Given the description of an element on the screen output the (x, y) to click on. 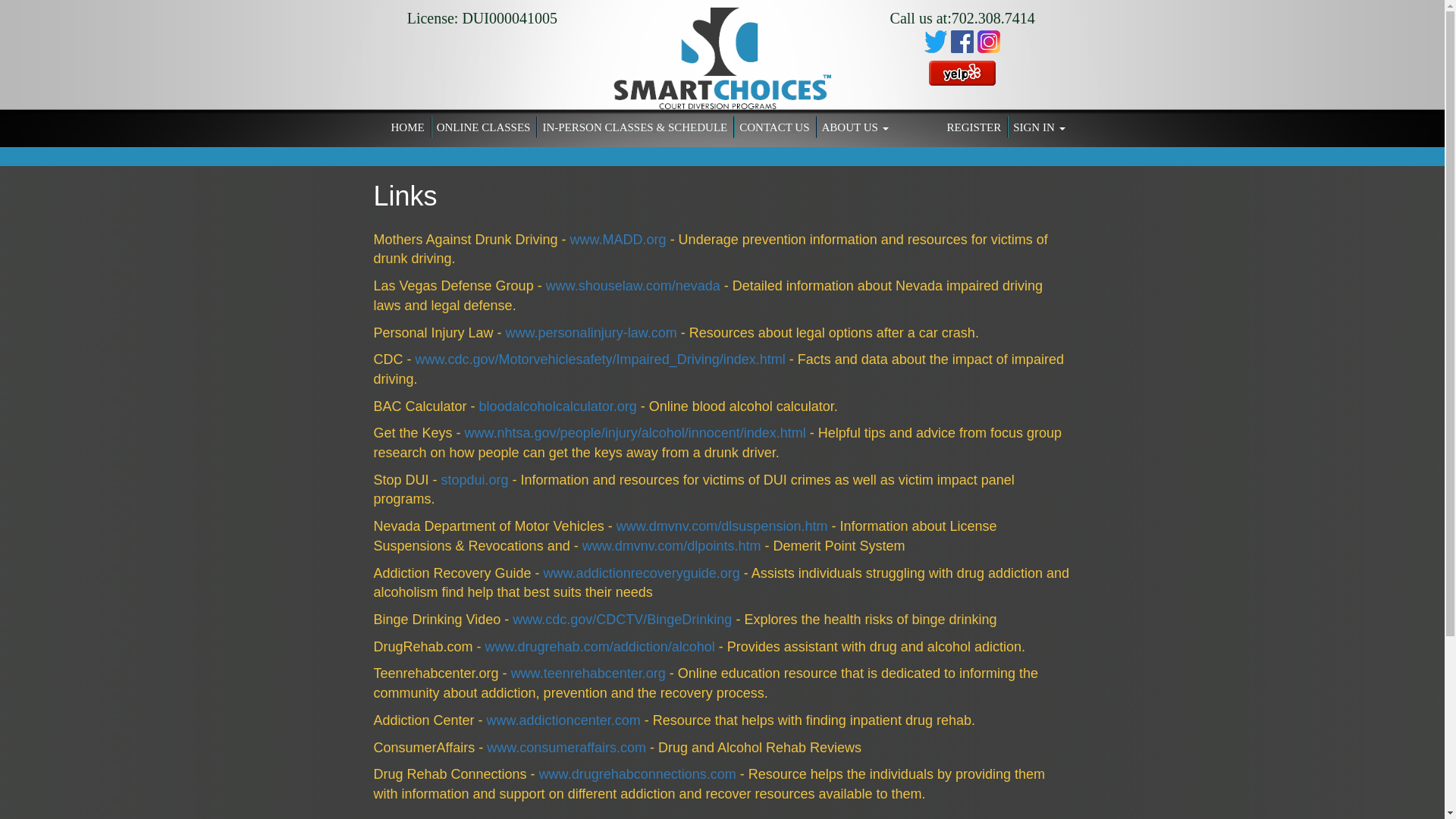
www.consumeraffairs.com (566, 747)
HOME (408, 127)
ABOUT US (855, 127)
www.drugrehabconnections.com (637, 774)
SIGN IN (1038, 127)
www.MADD.org (618, 239)
ONLINE CLASSES (483, 127)
www.addictioncenter.com (563, 720)
stopdui.org (474, 479)
bloodalcoholcalculator.org (558, 406)
www.personalinjury-law.com (591, 332)
www.teenrehabcenter.org (588, 672)
REGISTER (973, 127)
CONTACT US (774, 127)
www.addictionrecoveryguide.org (641, 572)
